Given the description of an element on the screen output the (x, y) to click on. 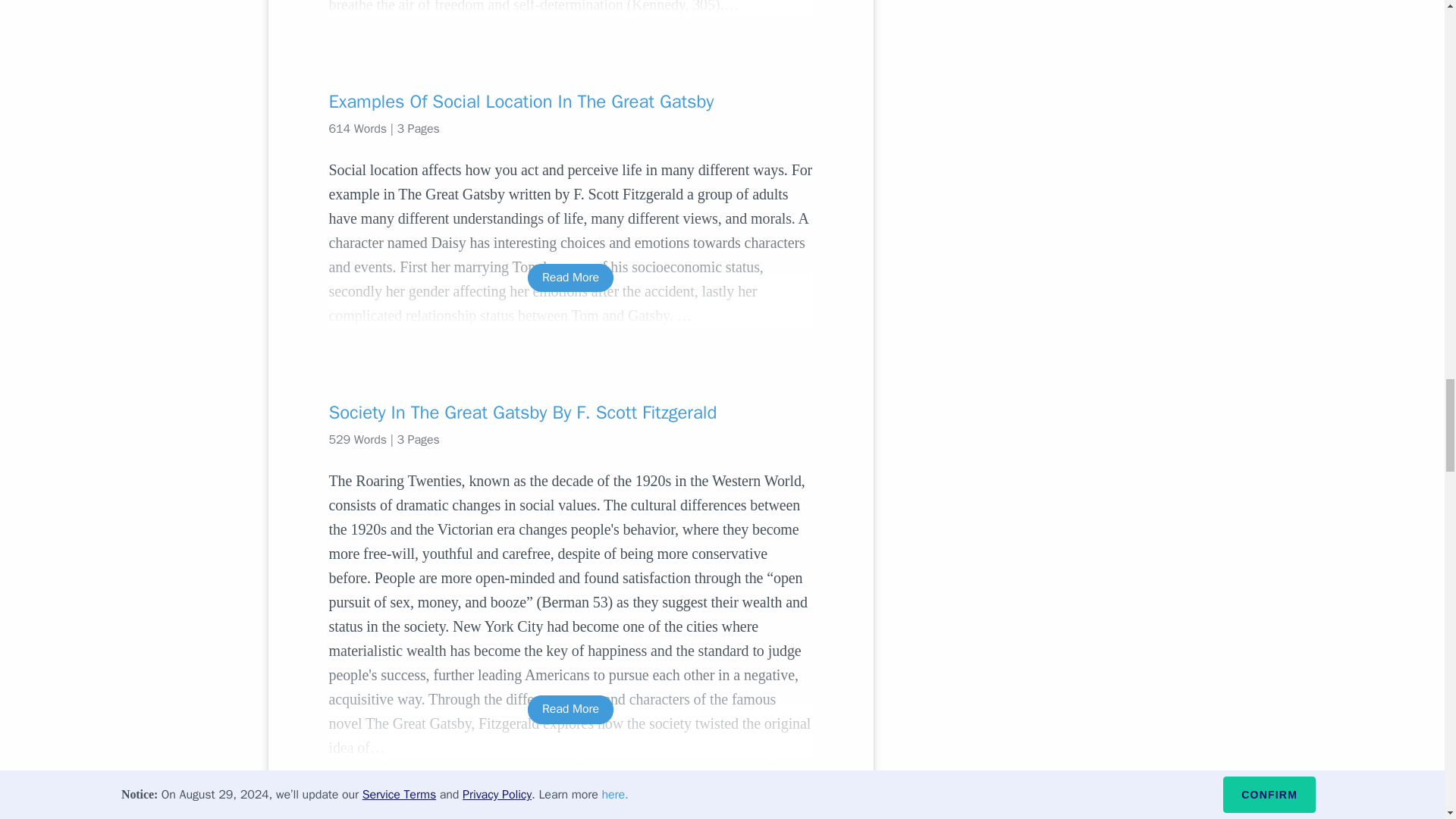
Society In The Great Gatsby By F. Scott Fitzgerald (570, 412)
Read More (569, 277)
Examples Of Social Location In The Great Gatsby (570, 101)
Read More (569, 709)
